Given the description of an element on the screen output the (x, y) to click on. 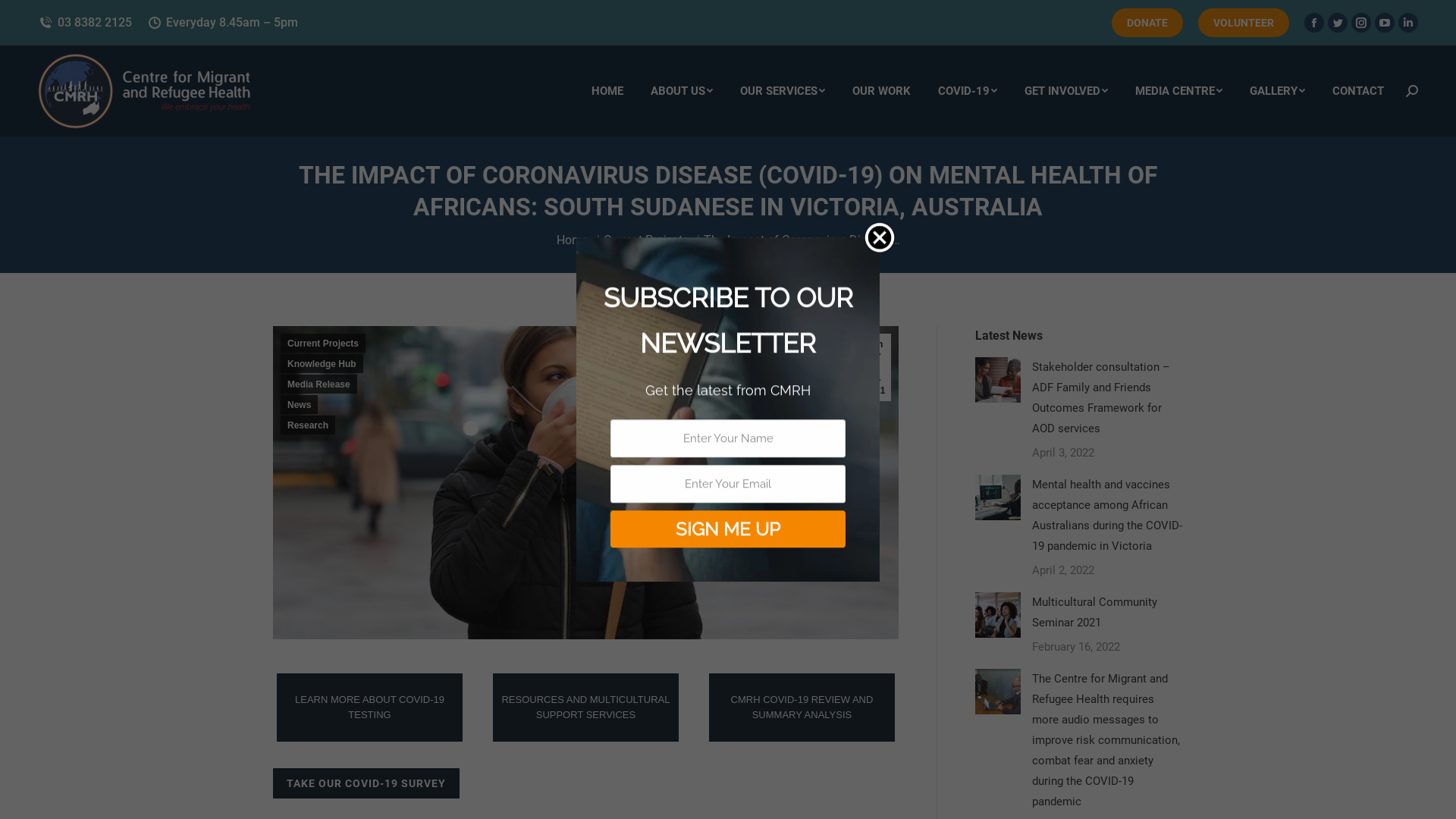
Multicultural Community Seminar 2021 Element type: text (1107, 612)
Media Release Element type: text (318, 383)
GALLERY Element type: text (1277, 90)
COVID_19 Element type: hover (585, 482)
VOLUNTEER Element type: text (1243, 22)
GET INVOLVED Element type: text (1065, 90)
News Element type: text (298, 404)
Current Projects Element type: text (645, 239)
RESOURCES AND MULTICULTURAL SUPPORT SERVICES Element type: text (585, 707)
Twitter page opens in new window Element type: text (1337, 22)
YouTube page opens in new window Element type: text (1384, 22)
LEARN MORE ABOUT COVID-19 TESTING Element type: text (369, 707)
LEARN MORE ABOUT COVID-19 TESTING Element type: text (369, 707)
RESOURCES AND MULTICULTURAL SUPPORT SERVICES Element type: text (585, 707)
Facebook page opens in new window Element type: text (1314, 22)
Instagram page opens in new window Element type: text (1361, 22)
Home Element type: text (572, 239)
OUR WORK Element type: text (881, 90)
COVID-19 Element type: text (967, 90)
Jan
7
2021 Element type: text (875, 367)
ABOUT US Element type: text (681, 90)
Linkedin page opens in new window Element type: text (1408, 22)
CMRH COVID-19 REVIEW AND SUMMARY ANALYSIS Element type: text (801, 707)
OUR SERVICES Element type: text (782, 90)
CONTACT Element type: text (1357, 90)
TAKE OUR COVID-19 SURVEY Element type: text (366, 782)
DONATE Element type: text (1147, 22)
Current Projects Element type: text (322, 342)
Post Comment Element type: text (50, 16)
MEDIA CENTRE Element type: text (1178, 90)
Go! Element type: text (23, 16)
CMRH COVID-19 REVIEW AND SUMMARY ANALYSIS Element type: text (801, 707)
Research Element type: text (307, 424)
HOME Element type: text (607, 90)
Knowledge Hub Element type: text (321, 363)
